Given the description of an element on the screen output the (x, y) to click on. 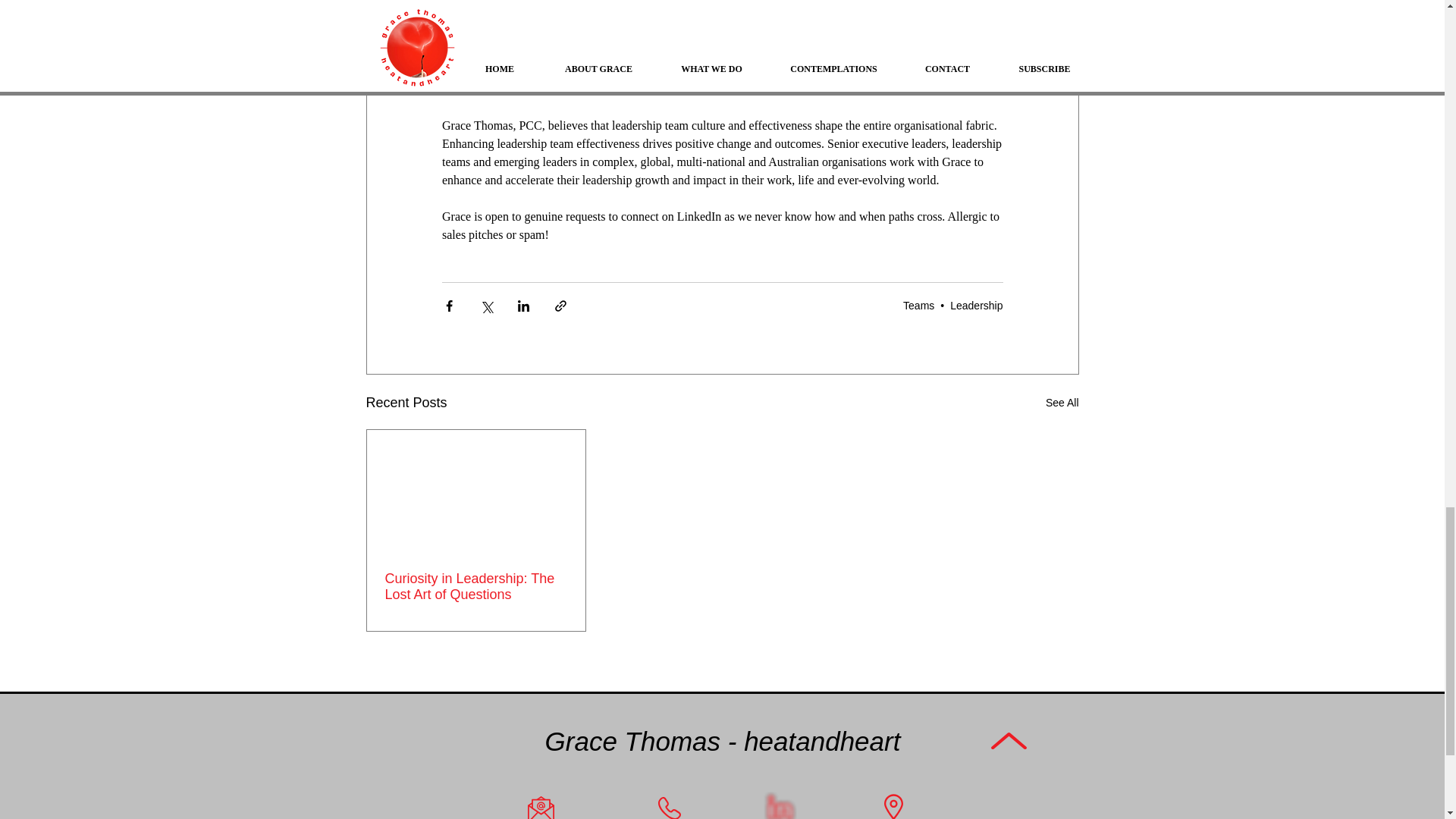
Curiosity in Leadership: The Lost Art of Questions (476, 586)
See All (1061, 403)
Leadership (976, 305)
Turn Your Group Into A True Team (647, 45)
At the Top, It's All About Teamwork (650, 27)
Teams (918, 305)
